Given the description of an element on the screen output the (x, y) to click on. 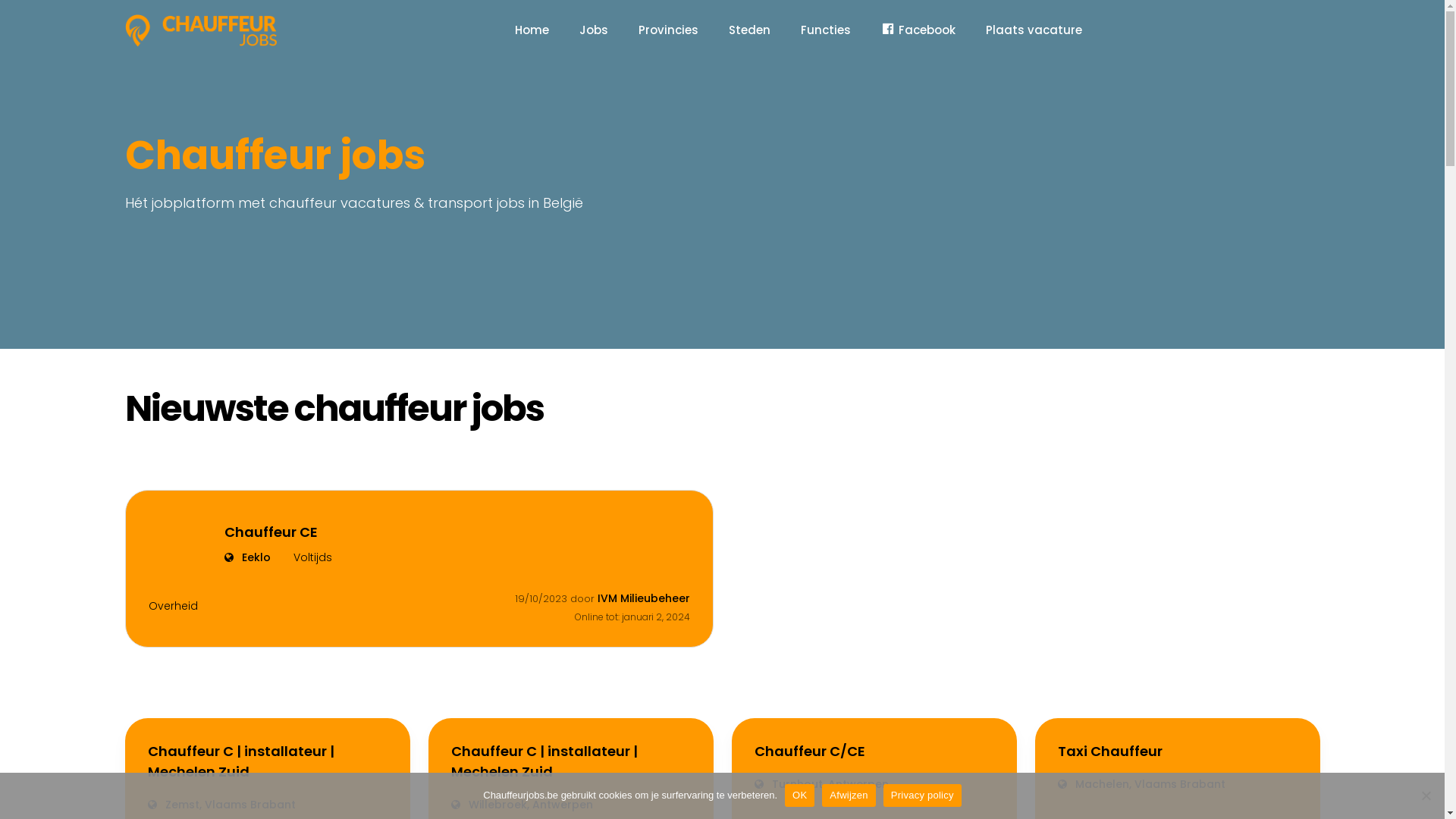
Machelen, Vlaams Brabant Element type: text (1176, 784)
Chauffeur CE Element type: text (278, 531)
Chauffeur C/CE Element type: text (873, 750)
Taxi Chauffeur Element type: text (1176, 750)
Chauffeur C | installateur | Mechelen Zuid Element type: text (570, 760)
Eeklo Element type: text (247, 557)
Overheid Element type: text (172, 606)
IVM Milieubeheer Element type: text (643, 597)
Functies Element type: text (825, 29)
Turnhout, Antwerpen Element type: text (873, 784)
OK Element type: text (799, 795)
Afwijzen Element type: text (848, 795)
Plaats vacature Element type: text (1033, 29)
Steden Element type: text (749, 29)
Zemst, Vlaams Brabant Element type: text (266, 804)
Facebook Element type: text (918, 29)
Home Element type: text (531, 29)
Jobs Element type: text (593, 29)
Willebroek, Antwerpen Element type: text (570, 804)
Afwijzen Element type: hover (1425, 795)
Provincies Element type: text (668, 29)
Chauffeur C | installateur | Mechelen Zuid Element type: text (266, 760)
Privacy policy Element type: text (922, 795)
